Given the description of an element on the screen output the (x, y) to click on. 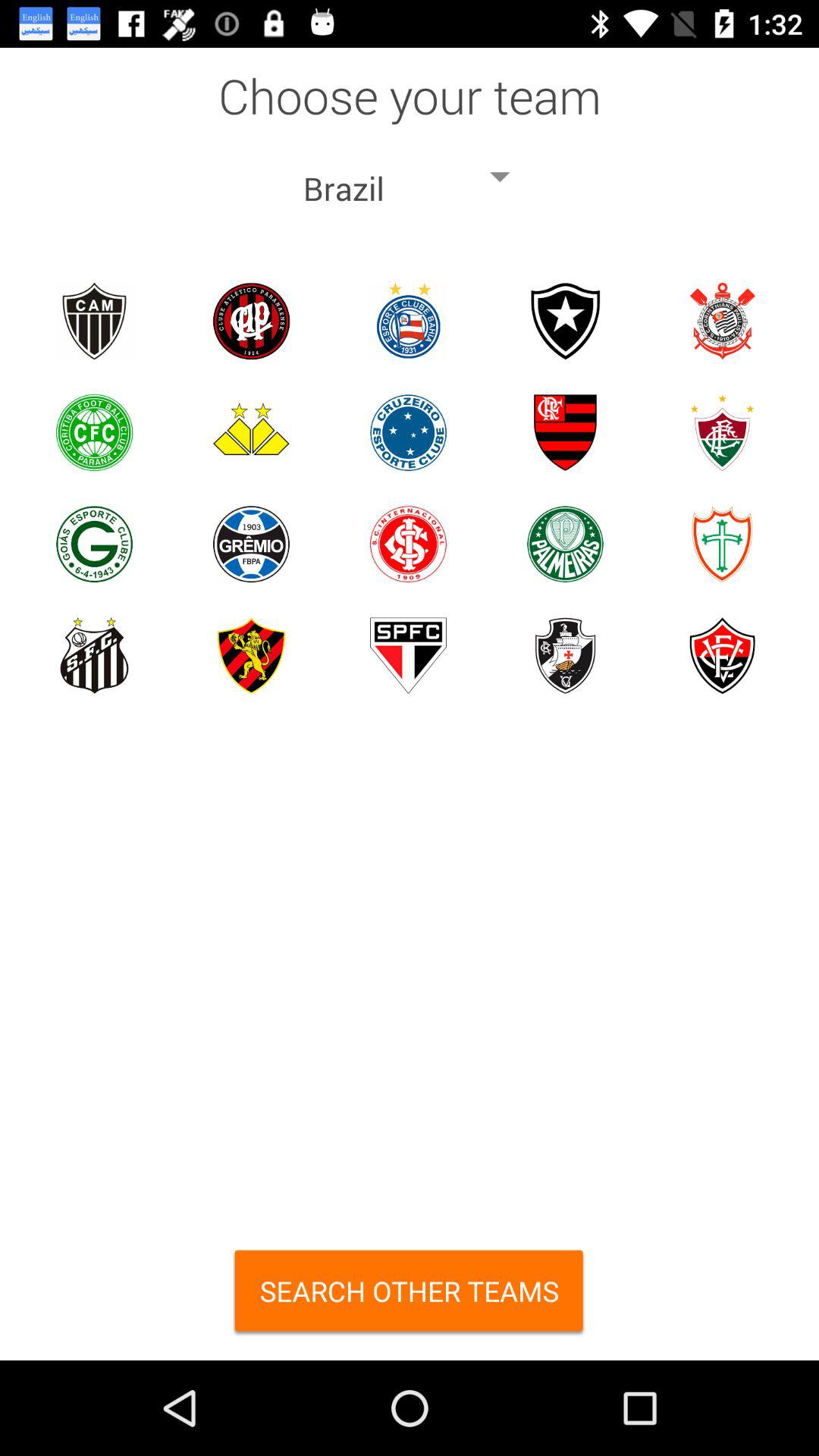
choose team (94, 544)
